Given the description of an element on the screen output the (x, y) to click on. 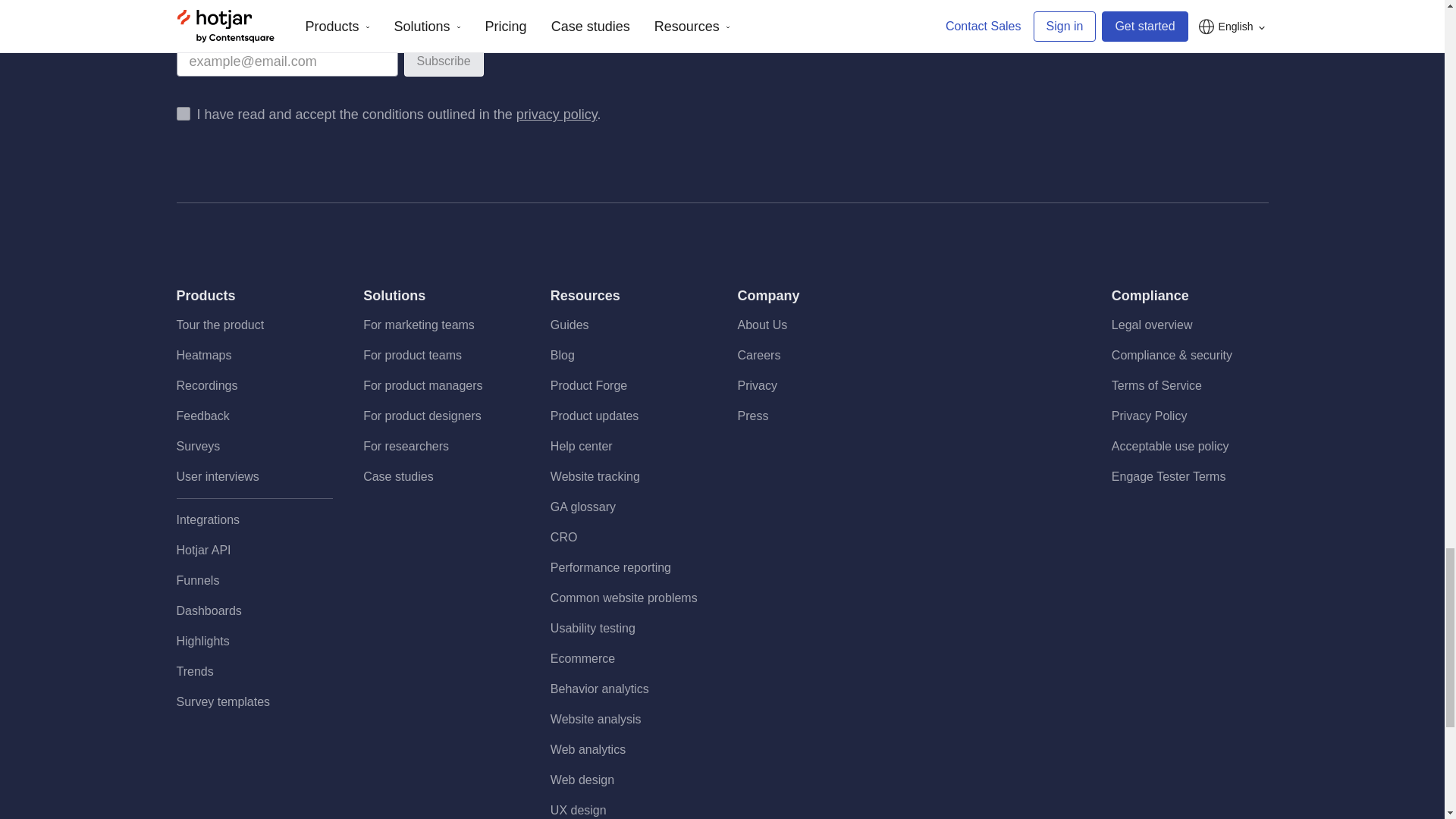
Feedback (202, 415)
privacy policy (556, 114)
Tour the product (219, 324)
Recordings (206, 385)
Heatmaps (203, 354)
User interviews (217, 476)
Subscribe (443, 60)
Surveys (197, 445)
on (182, 113)
